Given the description of an element on the screen output the (x, y) to click on. 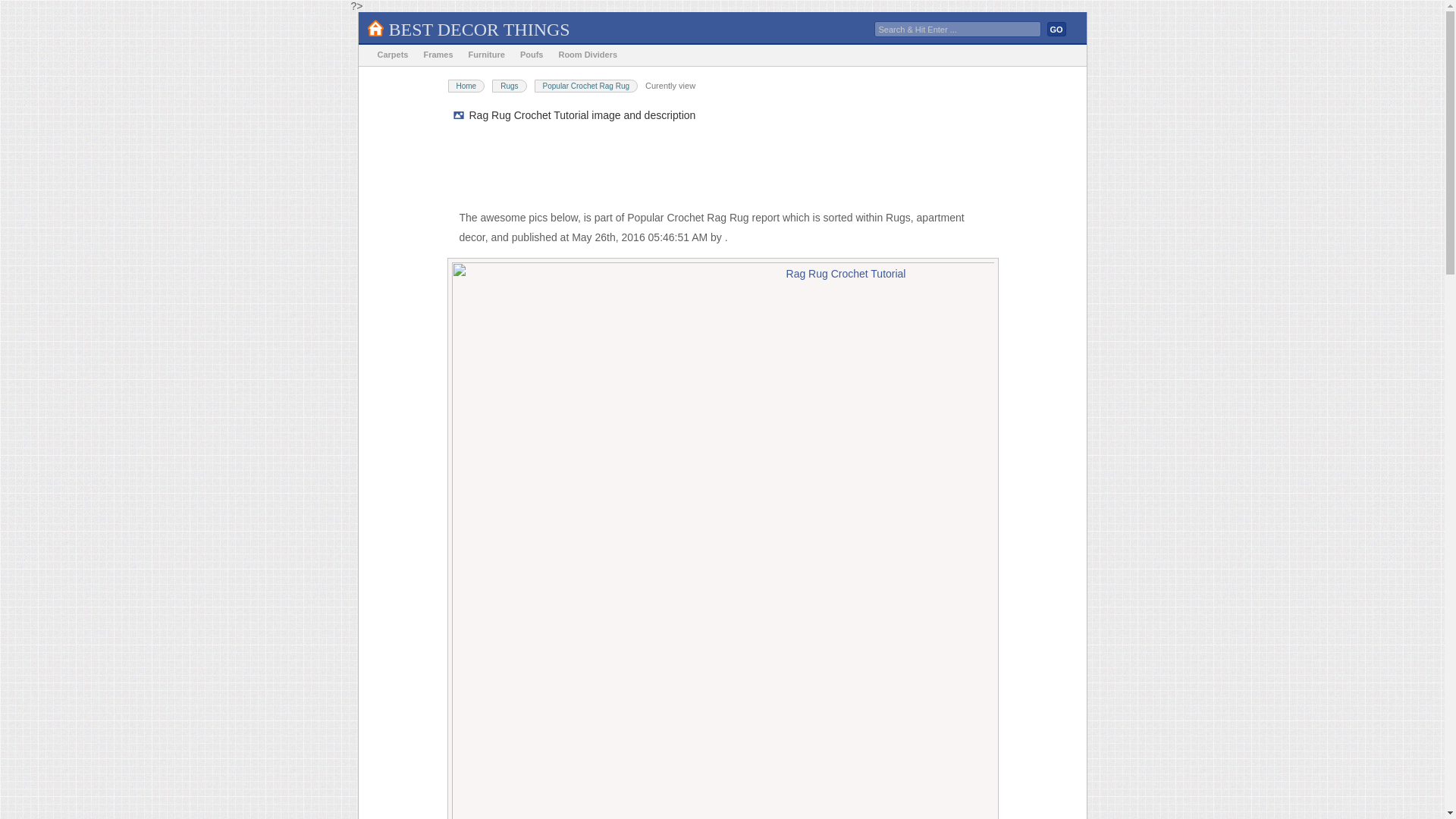
Poufs (531, 54)
GO (1055, 29)
Frames (437, 54)
BEST DECOR THINGS (478, 29)
Carpets (392, 54)
Home (465, 85)
Furniture (486, 54)
GO (1055, 29)
Rugs (508, 85)
Best Decor Things (478, 29)
